Given the description of an element on the screen output the (x, y) to click on. 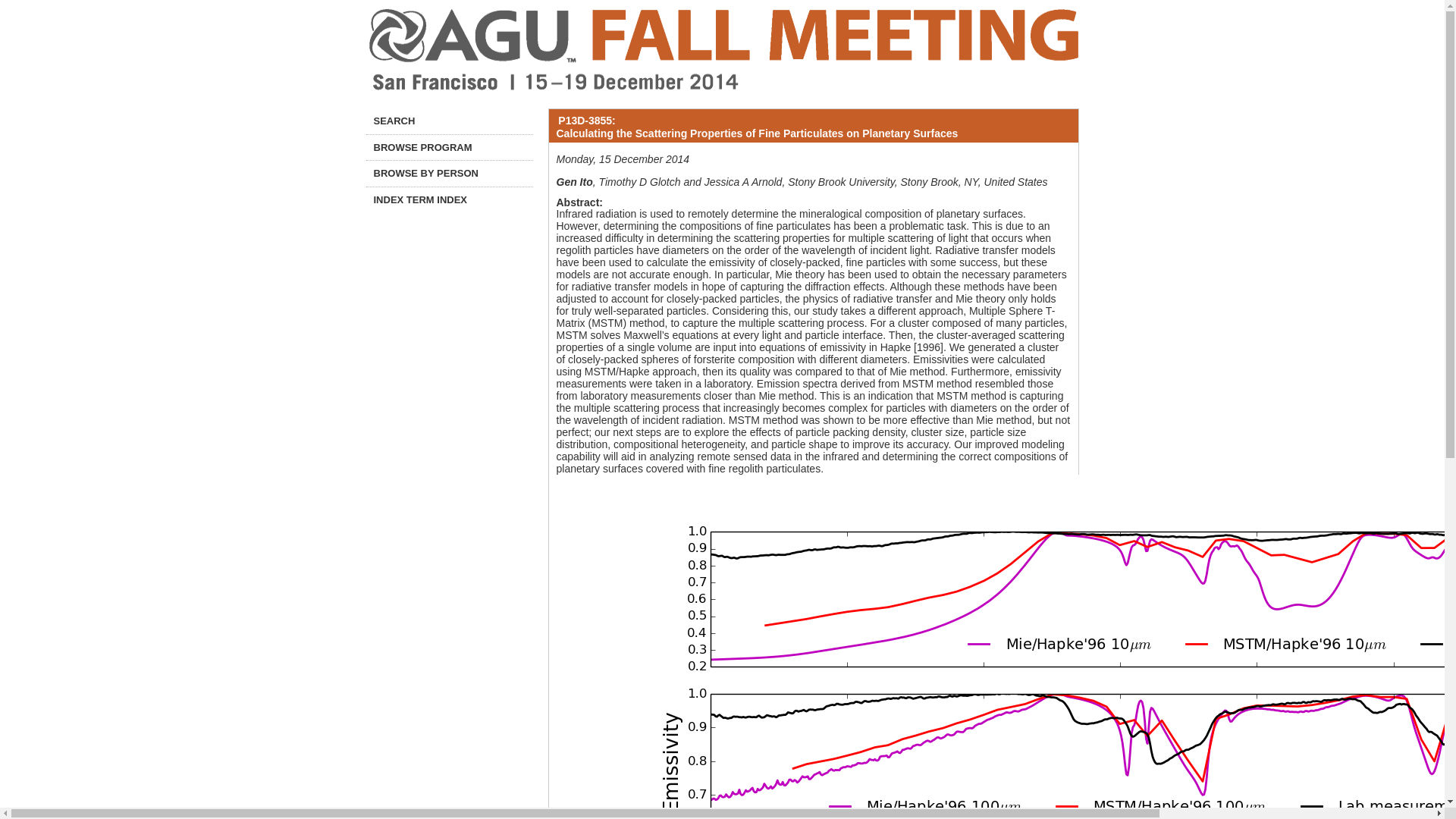
BROWSE BY PERSON (448, 173)
INDEX TERM INDEX (448, 199)
BROWSE PROGRAM (448, 147)
SEARCH (448, 121)
